Given the description of an element on the screen output the (x, y) to click on. 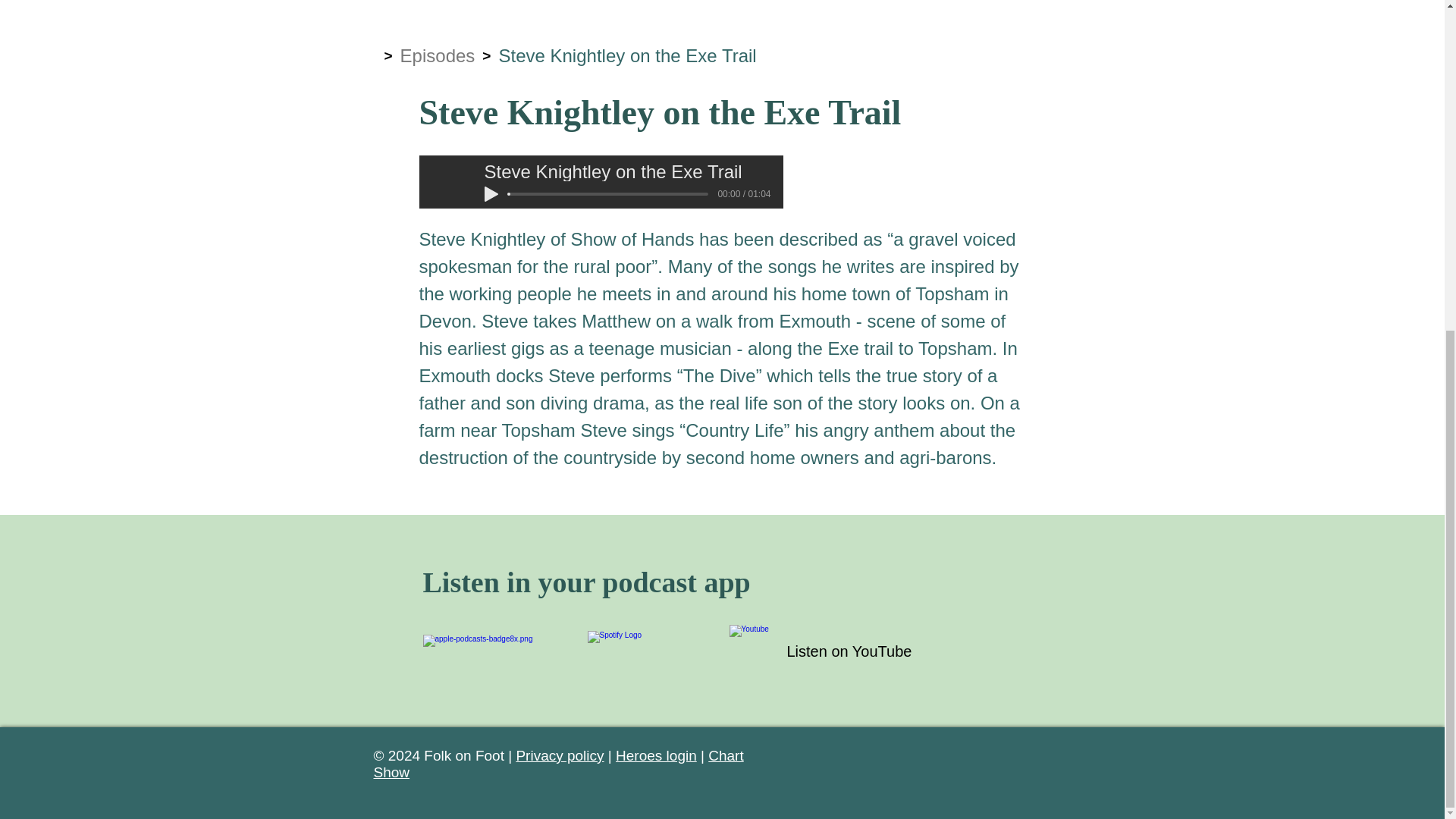
Episodes (438, 55)
Heroes login (656, 755)
Chart Show (557, 763)
Listen on YouTube (849, 651)
Steve Knightley on the Exe Trail (626, 55)
Privacy policy (559, 755)
0 (607, 193)
